Given the description of an element on the screen output the (x, y) to click on. 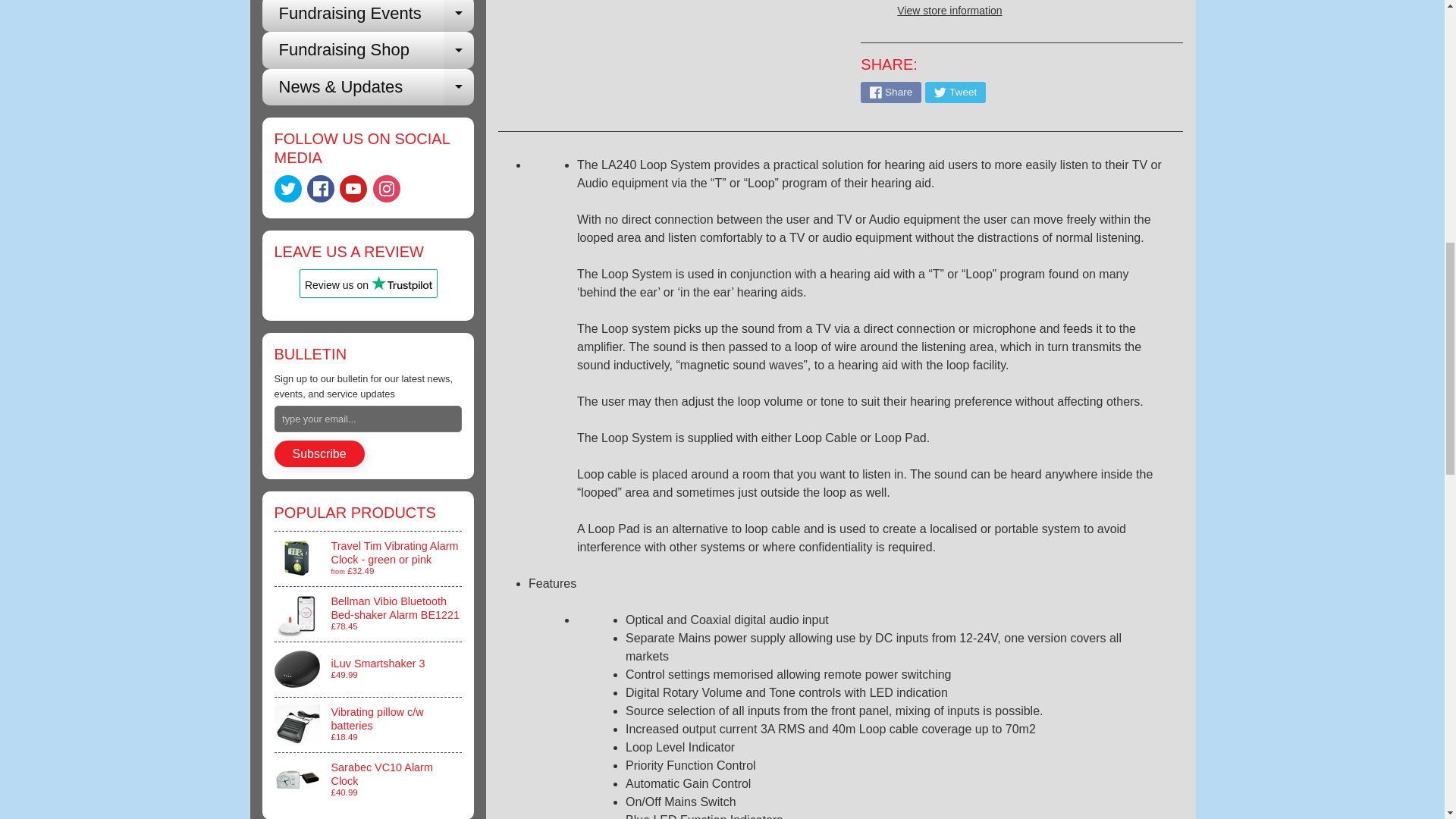
Sarabec VC10 Alarm Clock (369, 779)
Youtube (352, 188)
Instagram (386, 188)
Travel Tim Vibrating Alarm Clock - green or pink (369, 558)
Facebook (320, 188)
Customer reviews powered by Trustpilot (369, 288)
iLuv Smartshaker 3 (369, 669)
Tweet on Twitter (954, 92)
Twitter (288, 188)
Share on Facebook (890, 92)
